Given the description of an element on the screen output the (x, y) to click on. 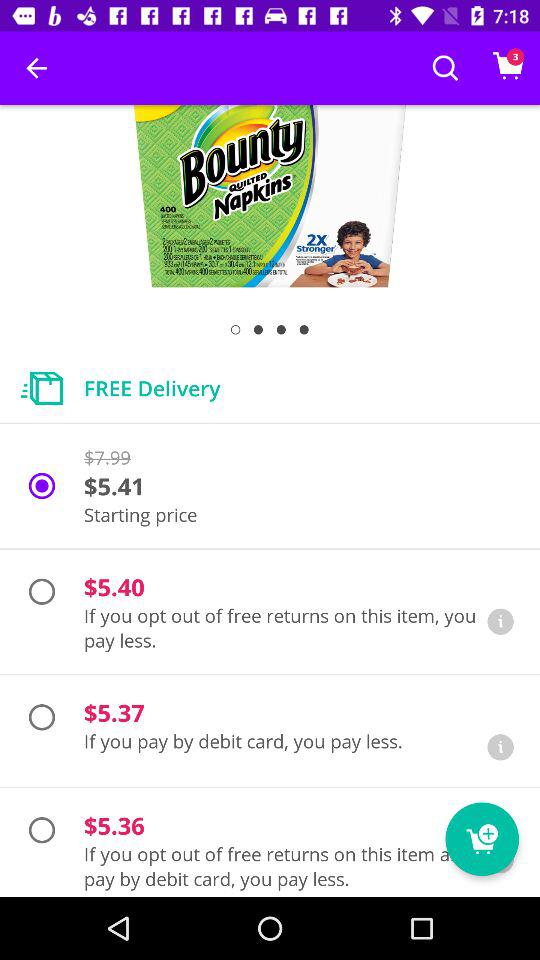
go back (500, 747)
